Given the description of an element on the screen output the (x, y) to click on. 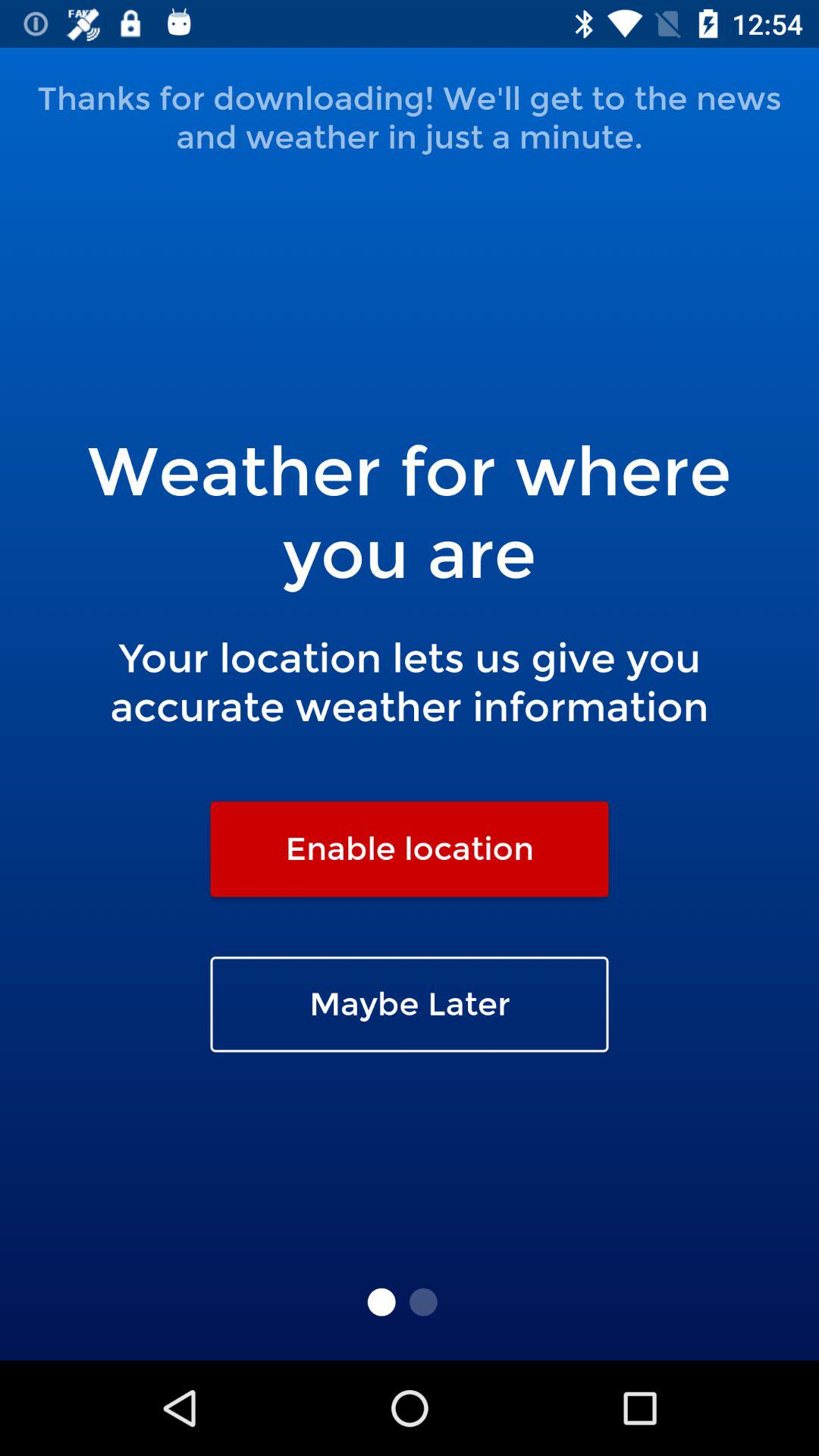
open icon below the enable location (409, 1004)
